Given the description of an element on the screen output the (x, y) to click on. 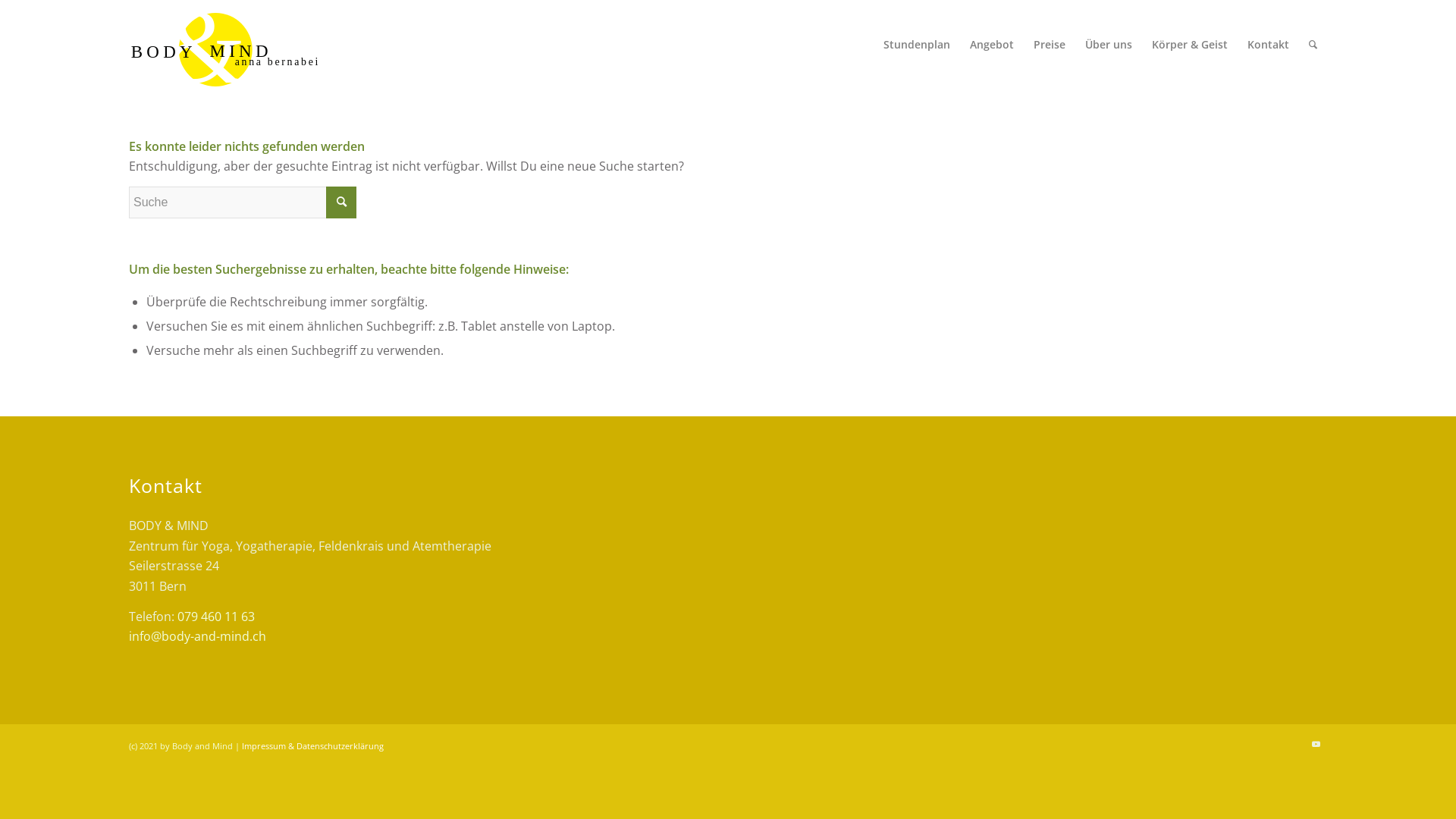
info@body-and-mind.ch Element type: text (197, 635)
Angebot Element type: text (991, 44)
079 460 11 63 Element type: text (215, 616)
Preise Element type: text (1049, 44)
Stundenplan Element type: text (916, 44)
Kontakt Element type: text (1268, 44)
&
MIND
BODY
anna bernabei Element type: text (229, 44)
Youtube Element type: hover (1315, 743)
